Given the description of an element on the screen output the (x, y) to click on. 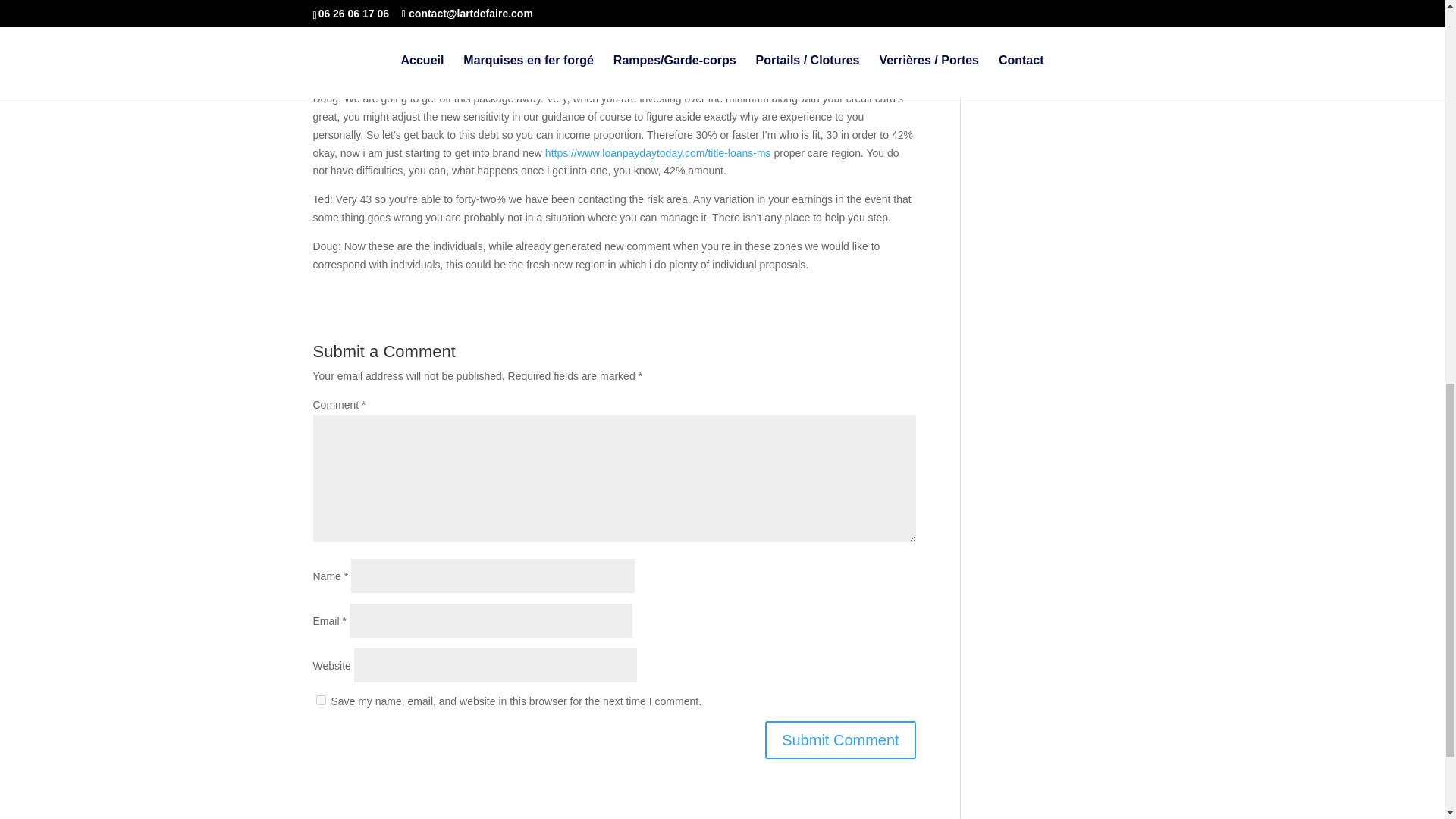
Submit Comment (840, 740)
Submit Comment (840, 740)
yes (319, 700)
